Given the description of an element on the screen output the (x, y) to click on. 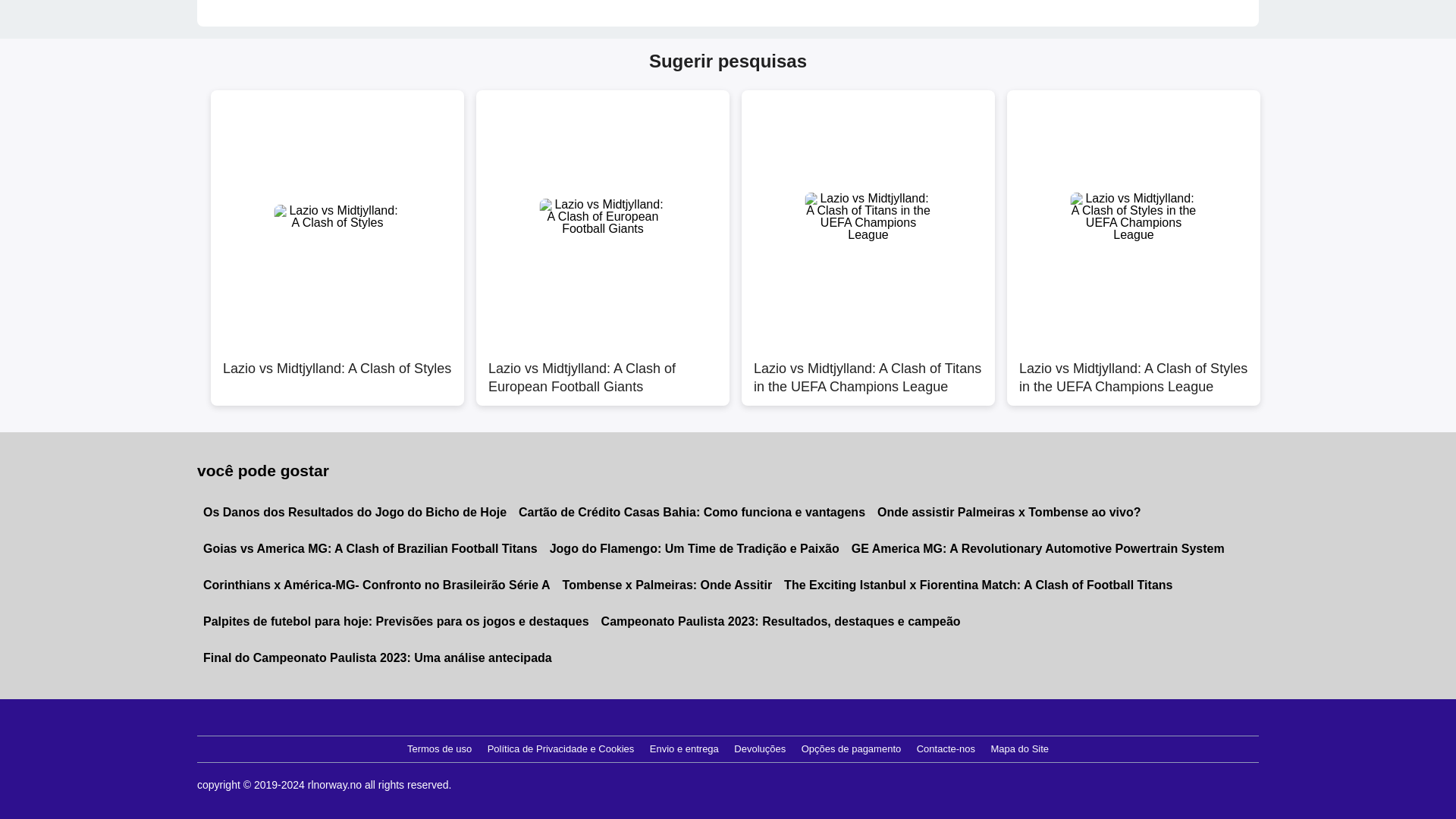
Lazio vs Midtjylland: A Clash of European Football Giants (602, 369)
Envio e entrega (684, 749)
Tombense x Palmeiras: Onde Assitir (667, 585)
Os Danos dos Resultados do Jogo do Bicho de Hoje (354, 512)
Lazio vs Midtjylland: A Clash of Styles (337, 369)
GE America MG: A Revolutionary Automotive Powertrain System (1037, 548)
Termos de uso (439, 749)
Onde assistir Palmeiras x Tombense ao vivo? (1008, 512)
Goias vs America MG: A Clash of Brazilian Football Titans (369, 548)
Contacte-nos (946, 749)
